Given the description of an element on the screen output the (x, y) to click on. 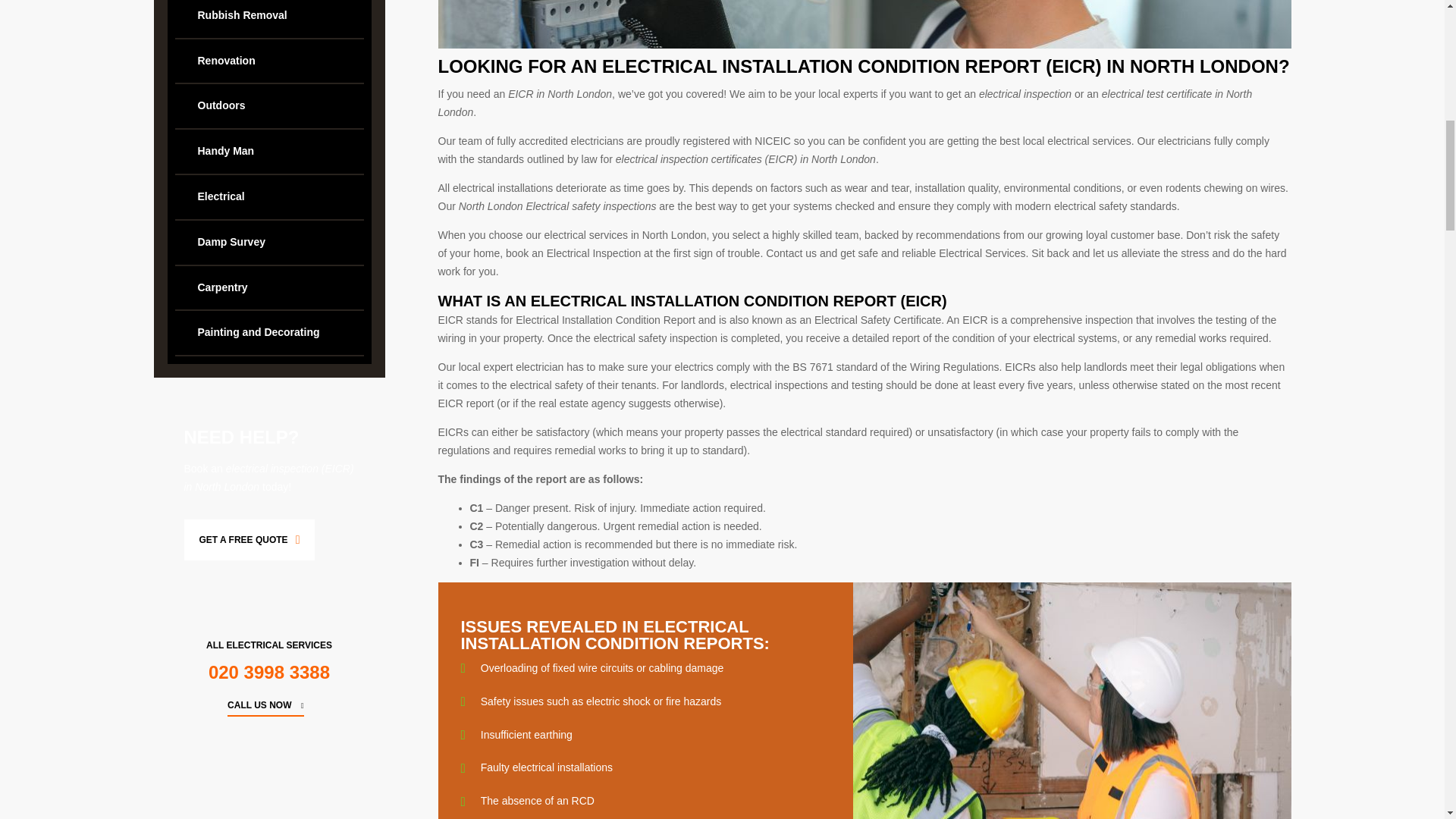
Carpentry (268, 288)
Painting and Decorating (268, 332)
Outdoors (268, 105)
Rubbish Removal (268, 18)
Renovation (268, 61)
Handy Man (268, 151)
GET A FREE QUOTE (248, 539)
Damp Survey (268, 242)
Electrical (268, 197)
CALL US NOW (269, 704)
